Given the description of an element on the screen output the (x, y) to click on. 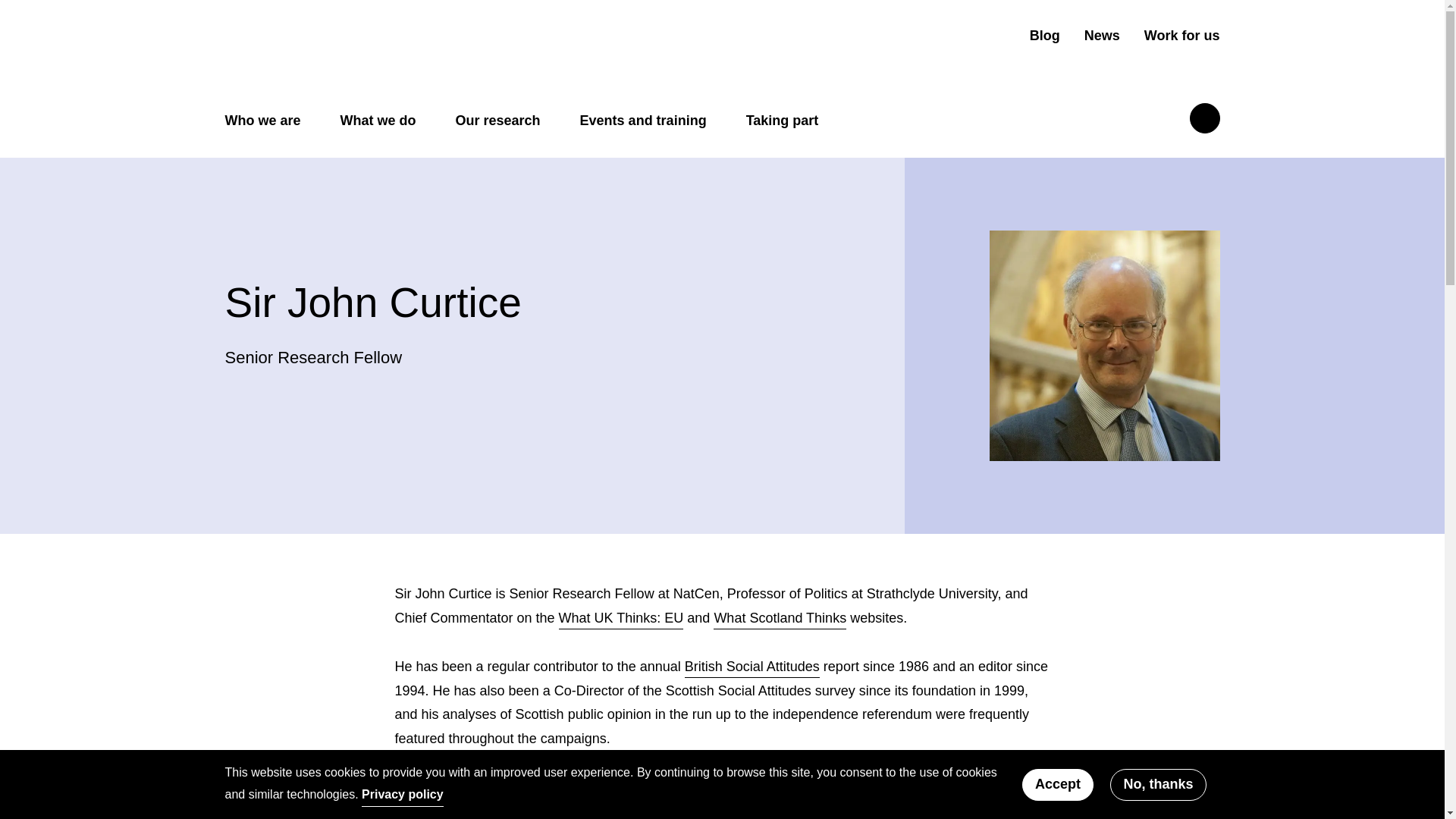
British Social Attitudes (751, 668)
Return to the homepage (344, 48)
Taking part (781, 122)
What we do (378, 122)
Work for us (1182, 36)
Events and training (642, 122)
Blog (1044, 36)
News (1101, 36)
What Scotland Thinks (779, 619)
Who we are (261, 122)
What UK Thinks: EU (621, 619)
Our research (497, 122)
